Given the description of an element on the screen output the (x, y) to click on. 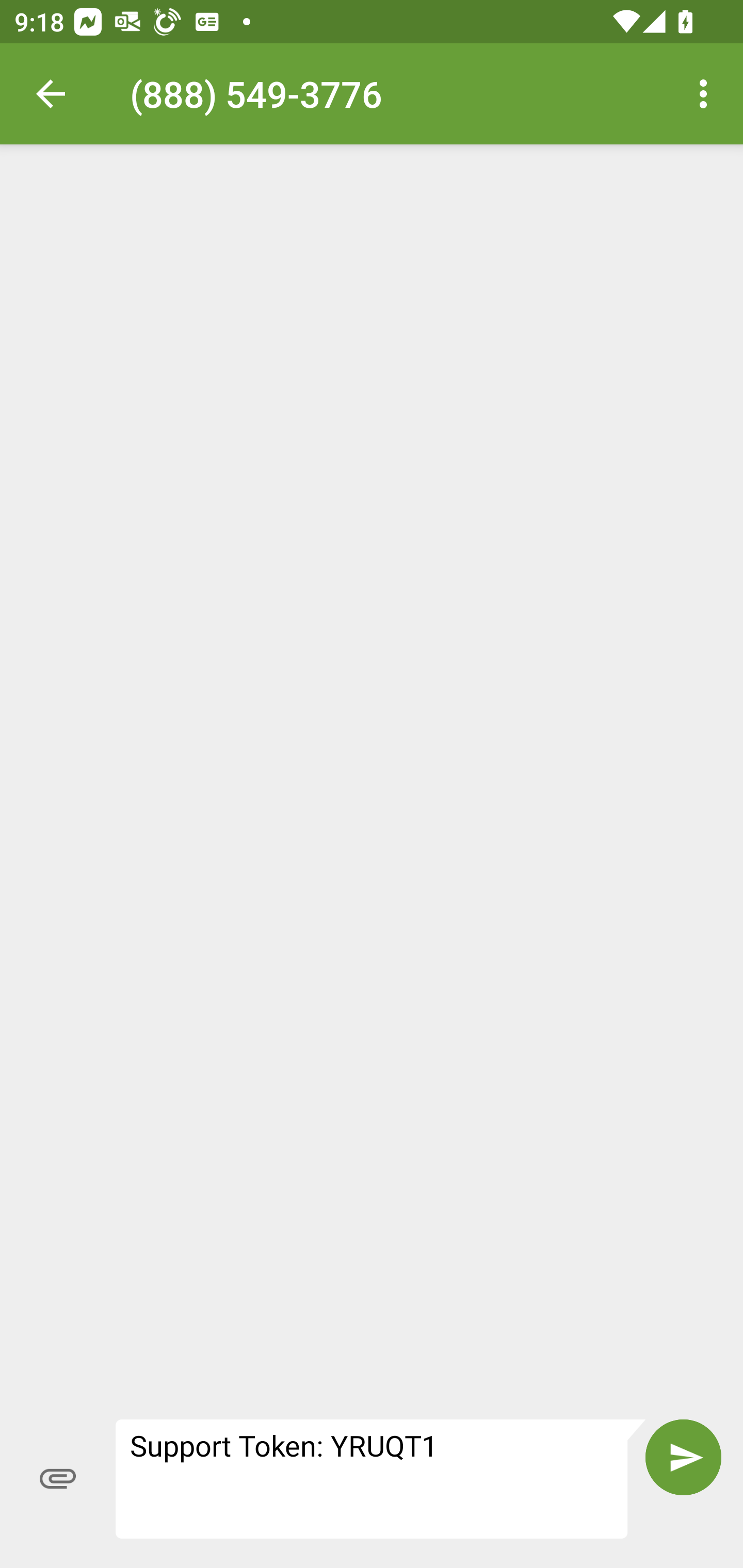
Navigate up (50, 93)
More options (706, 93)
Support Token: YRUQT1

 (380, 1478)
Add an attachment (57, 1478)
